Given the description of an element on the screen output the (x, y) to click on. 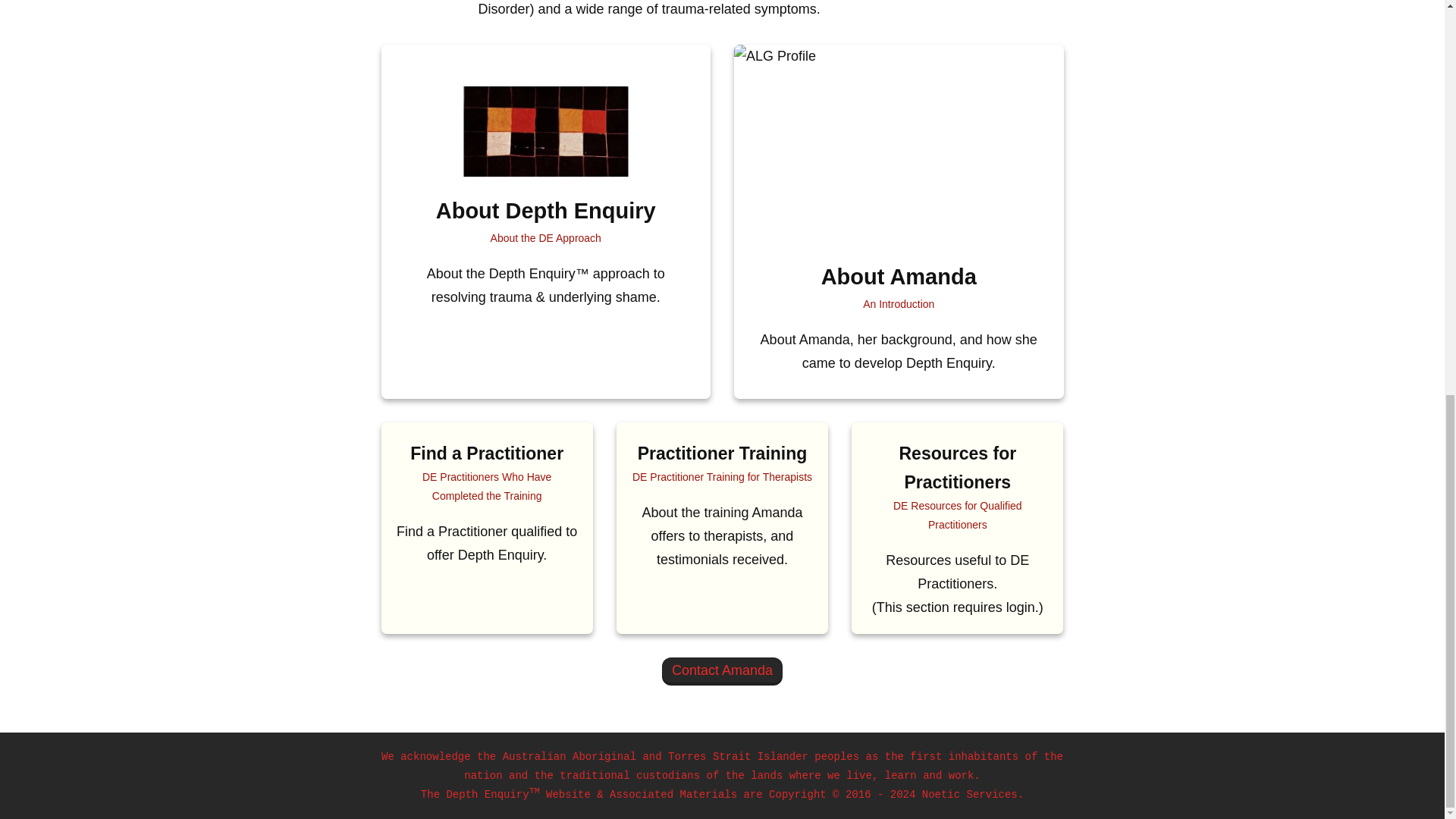
Contact Amanda (722, 671)
